Given the description of an element on the screen output the (x, y) to click on. 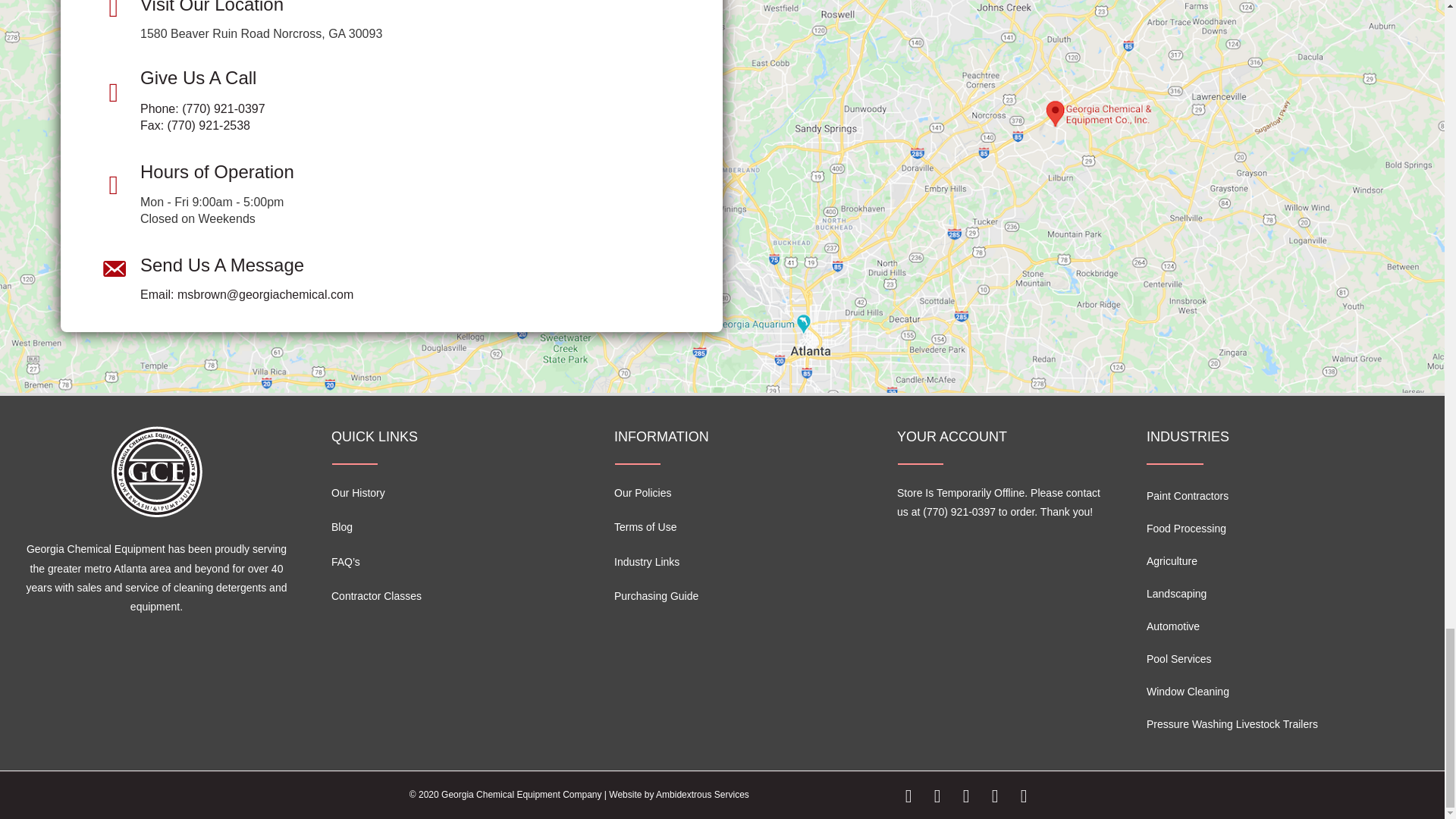
GCE Black Logo (156, 470)
